Given the description of an element on the screen output the (x, y) to click on. 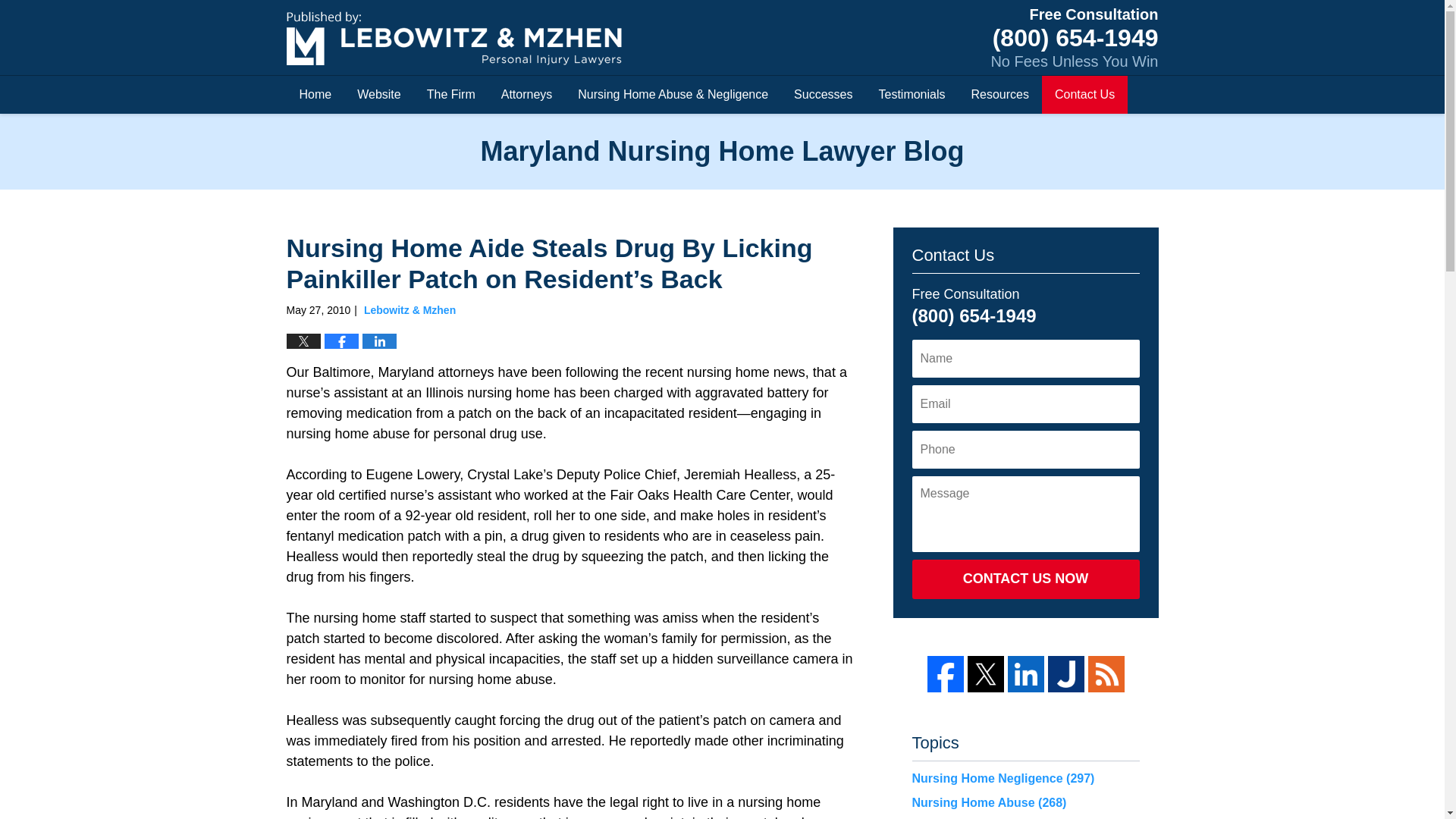
CONTACT US NOW (1024, 578)
Justia (1066, 674)
Maryland Nursing Home Lawyer Blog (453, 37)
The Firm (450, 94)
Please enter a valid phone number. (1024, 449)
Home (315, 94)
Attorneys (526, 94)
Resources (1000, 94)
Contact Us (1084, 94)
Facebook (944, 674)
